Given the description of an element on the screen output the (x, y) to click on. 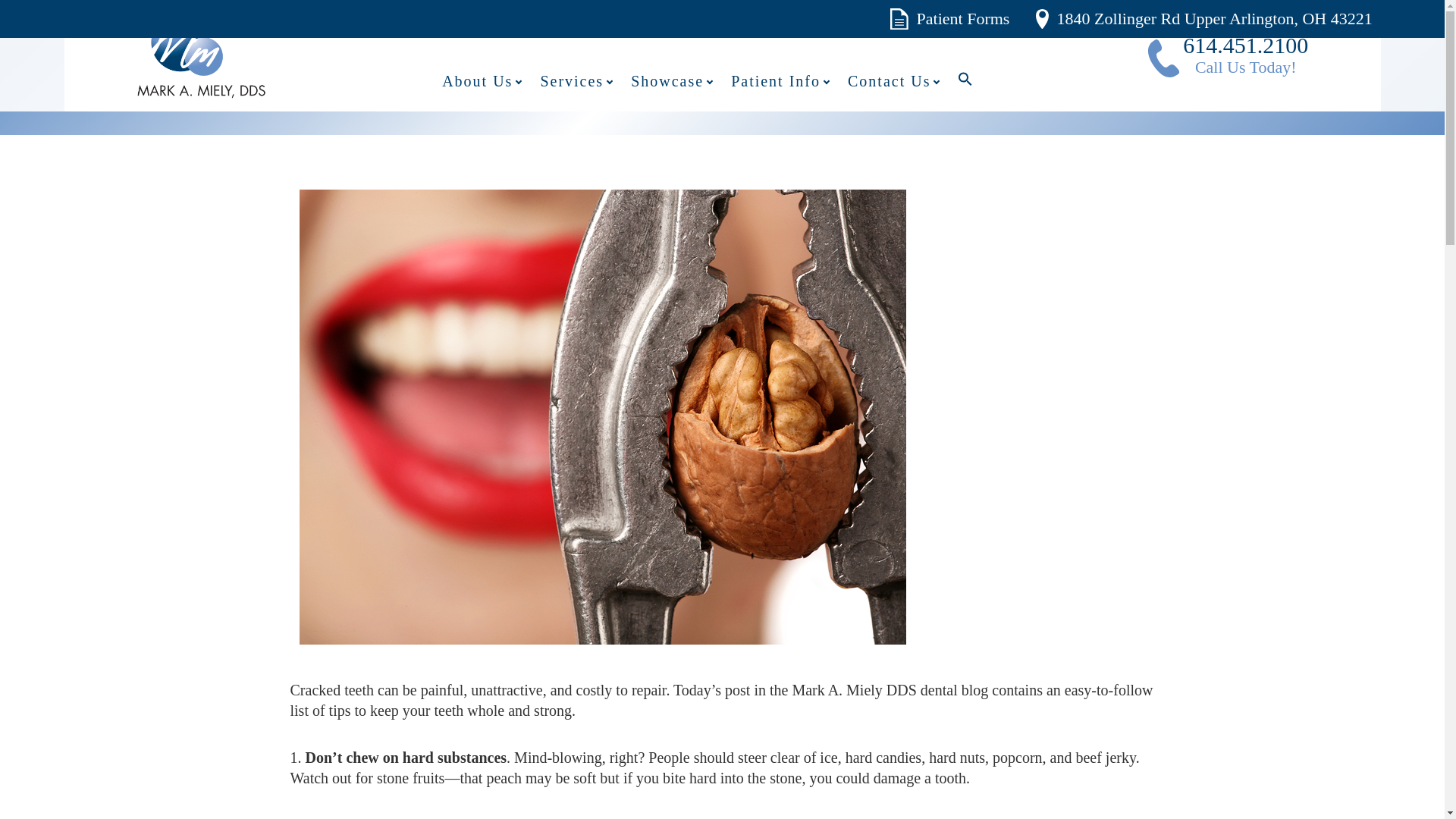
Patient Forms (949, 18)
Skip to content (1227, 58)
Patient Info (488, 92)
1840 Zollinger Rd Upper Arlington, OH 43221 (787, 92)
Services (1204, 18)
cost of dental crowns Columbus (583, 92)
Showcase (601, 414)
Contact Us (678, 92)
